Given the description of an element on the screen output the (x, y) to click on. 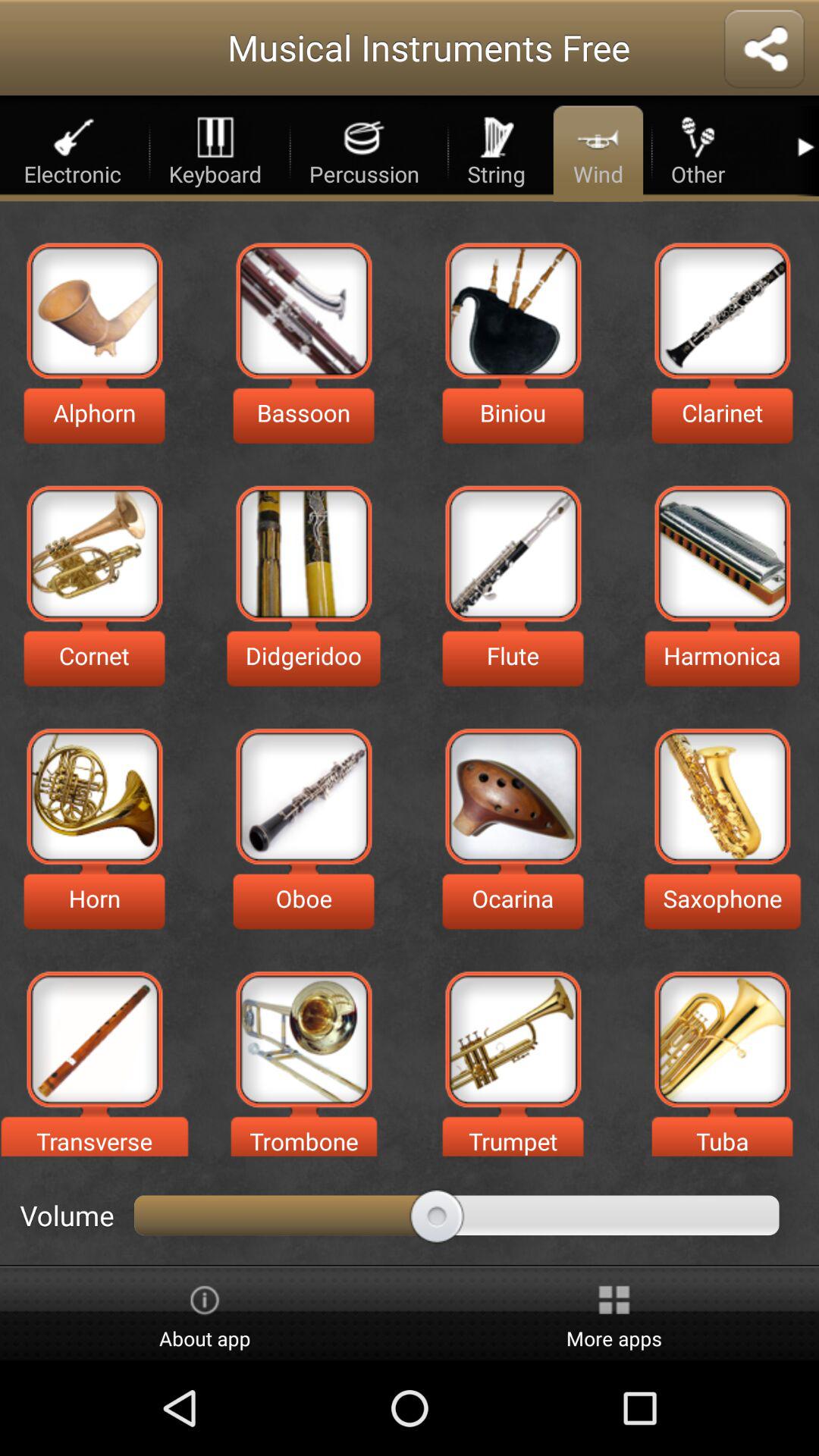
choose your choice (303, 553)
